Given the description of an element on the screen output the (x, y) to click on. 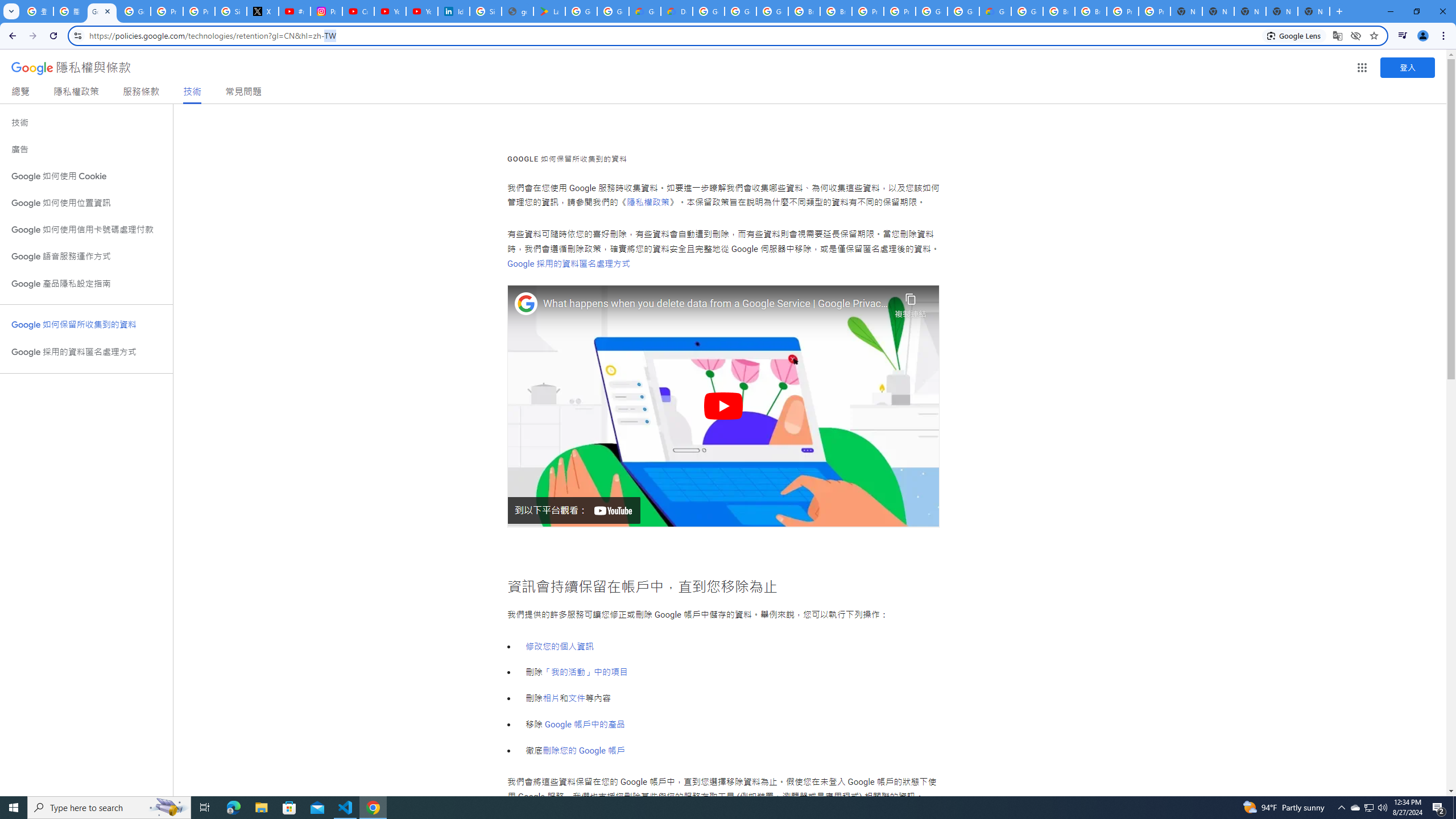
Search with Google Lens (1294, 35)
Google Workspace - Specific Terms (613, 11)
Search tabs (10, 11)
Close (107, 11)
Privacy Help Center - Policies Help (198, 11)
Sign in - Google Accounts (485, 11)
